Given the description of an element on the screen output the (x, y) to click on. 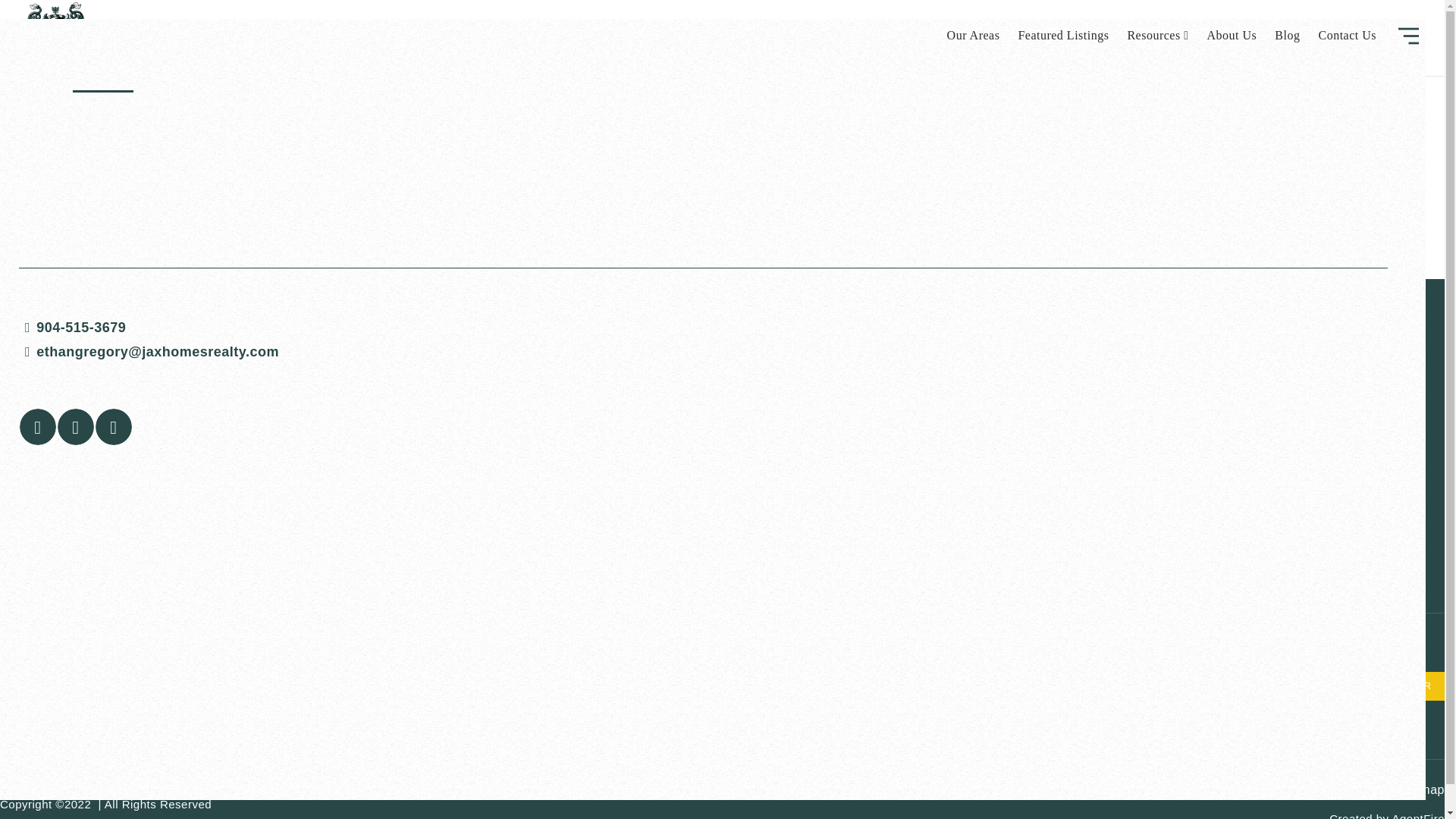
904-515-3679 (702, 327)
Blog (1286, 35)
Resources (1157, 35)
Our Areas (973, 35)
Featured Listings (1063, 35)
Created by AgentFire (1386, 815)
About Us (1232, 35)
Contact Us (1347, 35)
